Given the description of an element on the screen output the (x, y) to click on. 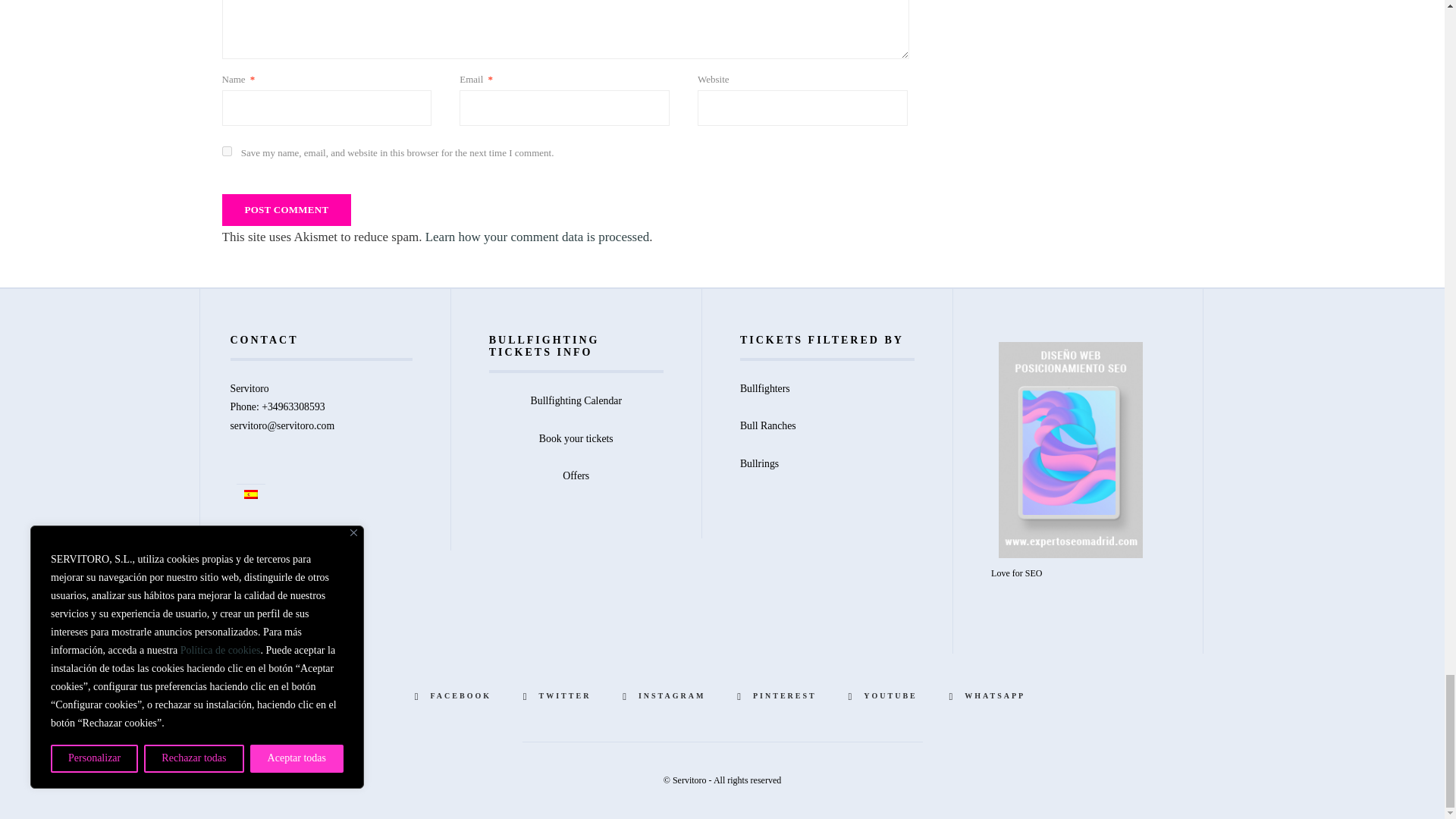
yes (226, 151)
Post Comment (285, 210)
Bullfighting Calendar (576, 400)
